Given the description of an element on the screen output the (x, y) to click on. 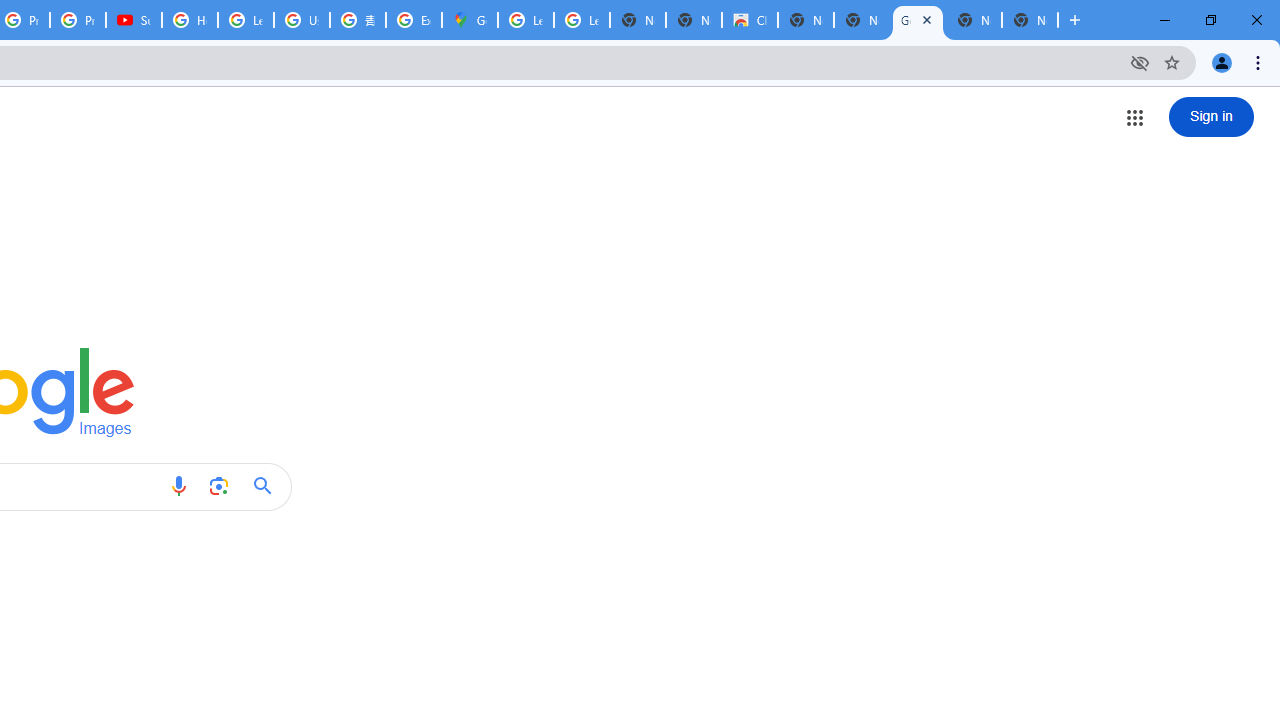
Search by voice (178, 485)
New Tab (1030, 20)
Google Maps (469, 20)
Google Search (268, 485)
